Given the description of an element on the screen output the (x, y) to click on. 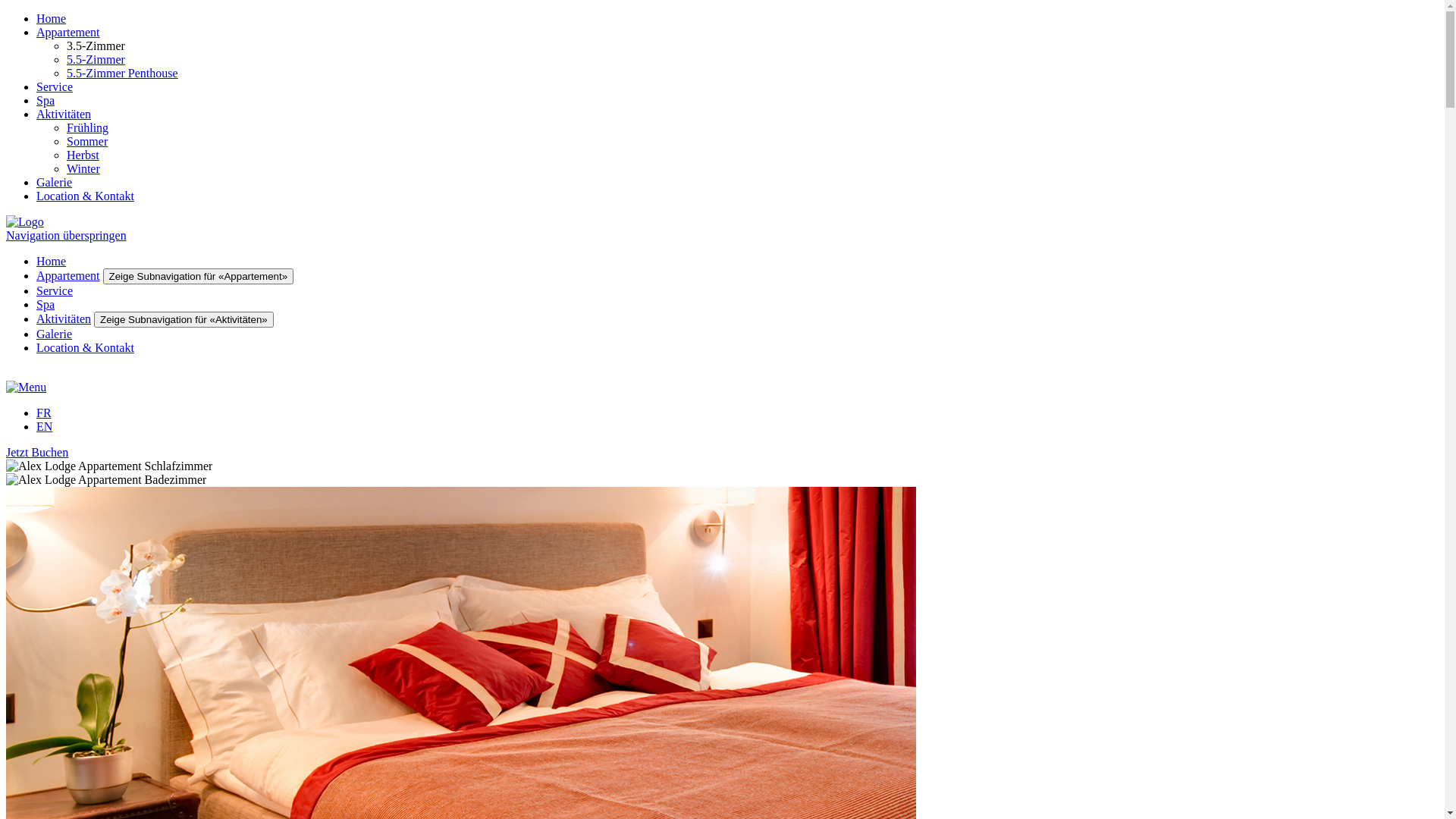
Home Element type: text (50, 260)
Location & Kontakt Element type: text (85, 347)
FR Element type: text (43, 412)
Spa Element type: text (45, 304)
Appartement Element type: text (68, 275)
Alex Lodge Appartement Badezimmer Element type: hover (106, 479)
Appartement Element type: text (68, 31)
Sommer Element type: text (86, 140)
EN Element type: text (44, 426)
Alex Lodge Appartement Badezimmer Element type: hover (722, 479)
Winter Element type: text (83, 168)
Herbst Element type: text (82, 154)
5.5-Zimmer Element type: text (95, 59)
  Element type: text (7, 373)
Service Element type: text (54, 86)
Alex Lodge Appartement Schlafzimmer Element type: hover (722, 466)
Service Element type: text (54, 290)
5.5-Zimmer Penthouse Element type: text (122, 72)
Spa Element type: text (45, 100)
Alex Lodge Appartement Schlafzimmer Element type: hover (109, 466)
Location & Kontakt Element type: text (85, 195)
Galerie Element type: text (54, 333)
Home Element type: text (50, 18)
Jetzt Buchen Element type: text (37, 451)
Galerie Element type: text (54, 181)
